Given the description of an element on the screen output the (x, y) to click on. 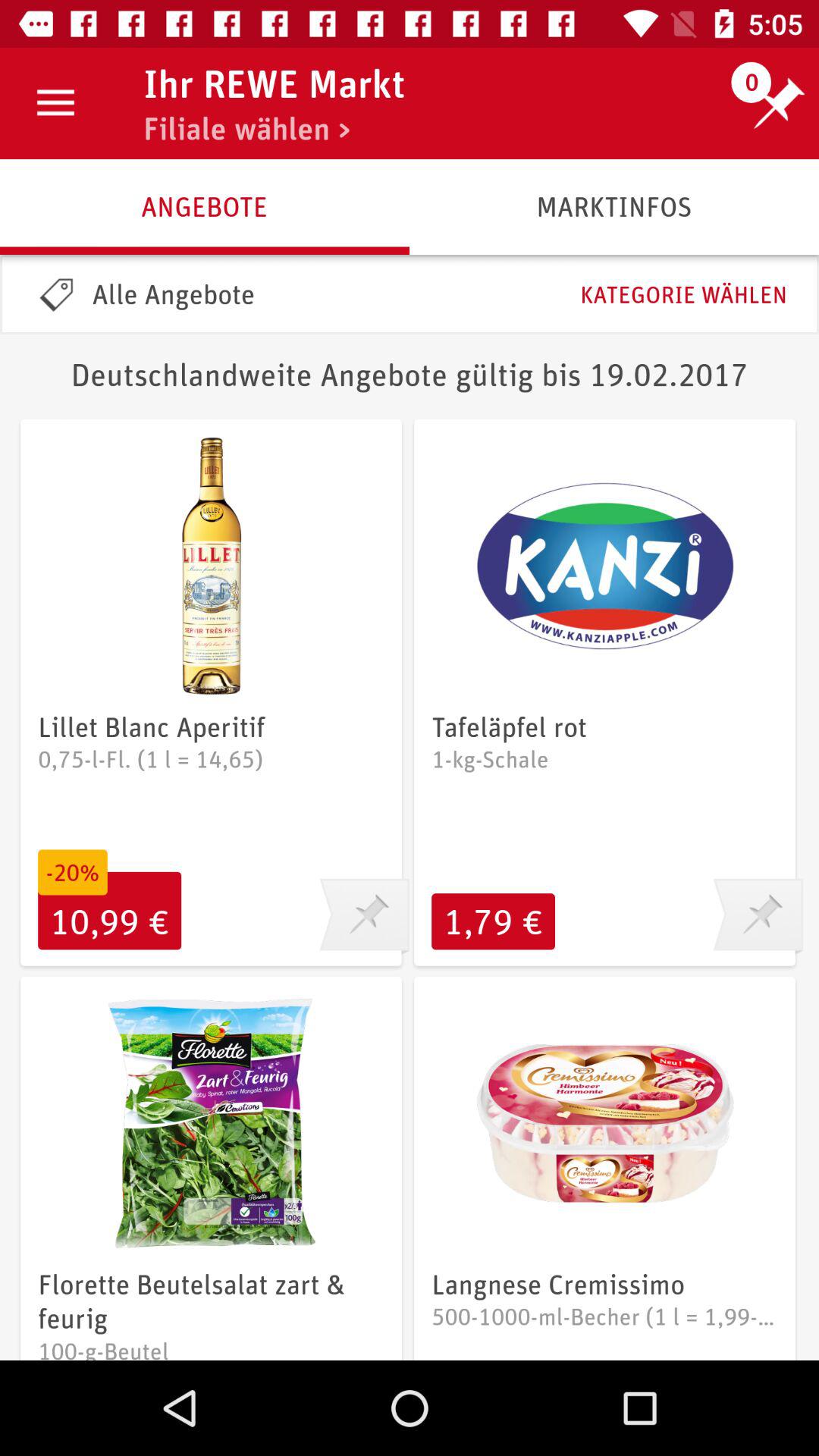
turn off icon below the ihr rewe markt (246, 128)
